Given the description of an element on the screen output the (x, y) to click on. 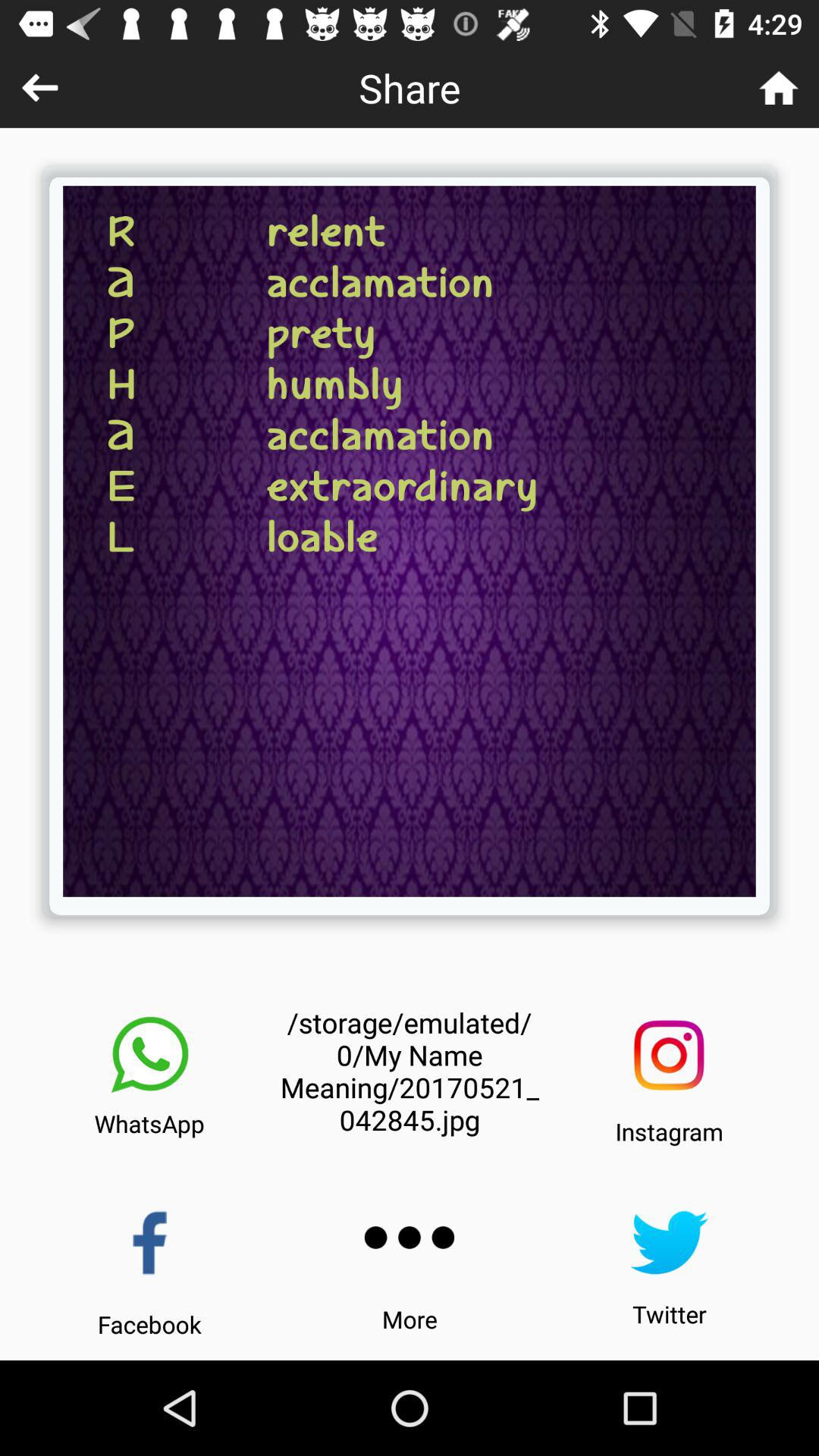
share on instagram (668, 1055)
